Given the description of an element on the screen output the (x, y) to click on. 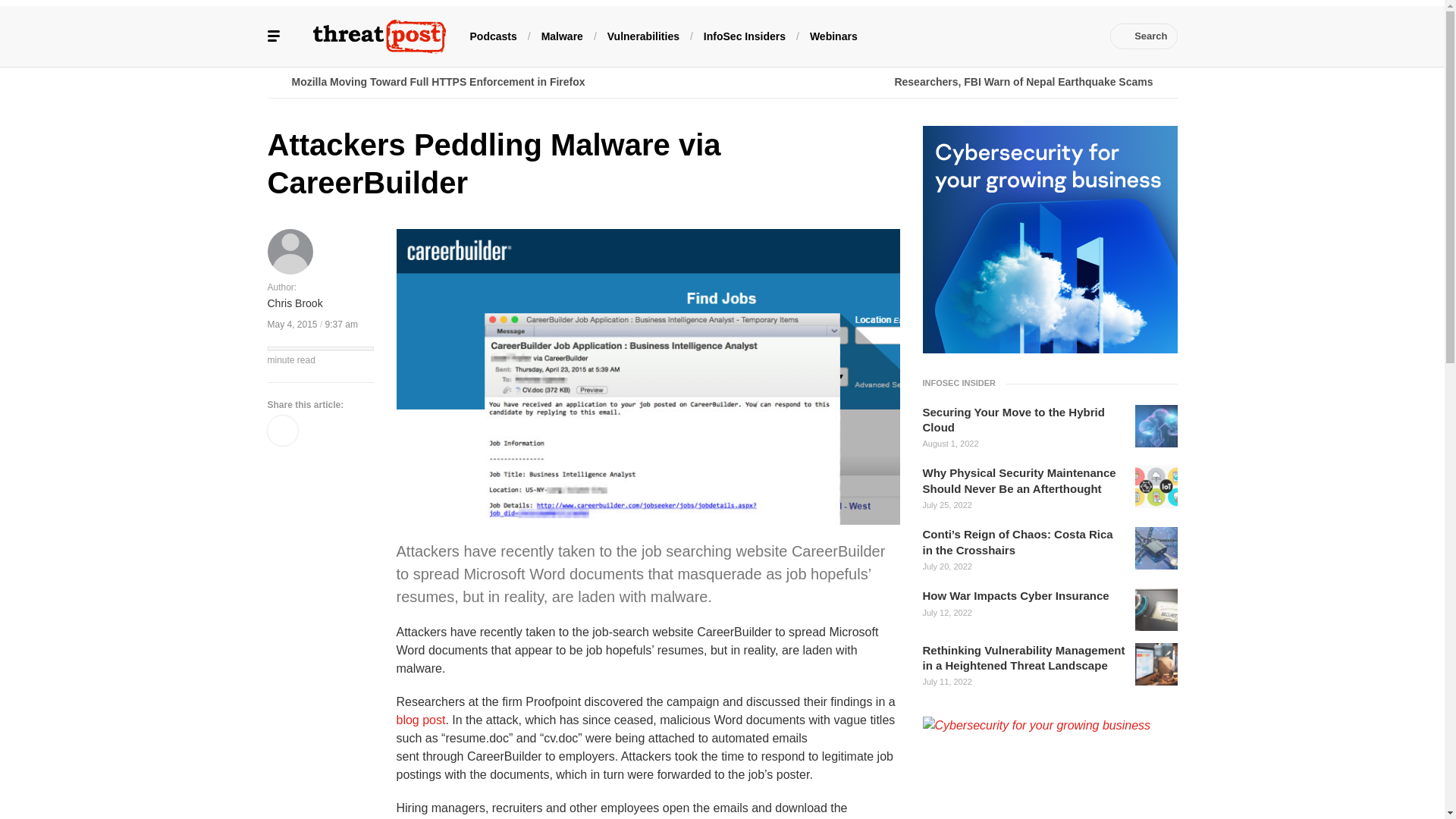
blog post (420, 719)
Instagram (1057, 36)
LinkedIn (989, 36)
YouTube (1012, 36)
Podcasts (493, 35)
Researchers, FBI Warn of Nepal Earthquake Scams (949, 82)
Mozilla Moving Toward Full HTTPS Enforcement in Firefox (494, 82)
Twitter (966, 36)
InfoSec Insiders (744, 35)
